Given the description of an element on the screen output the (x, y) to click on. 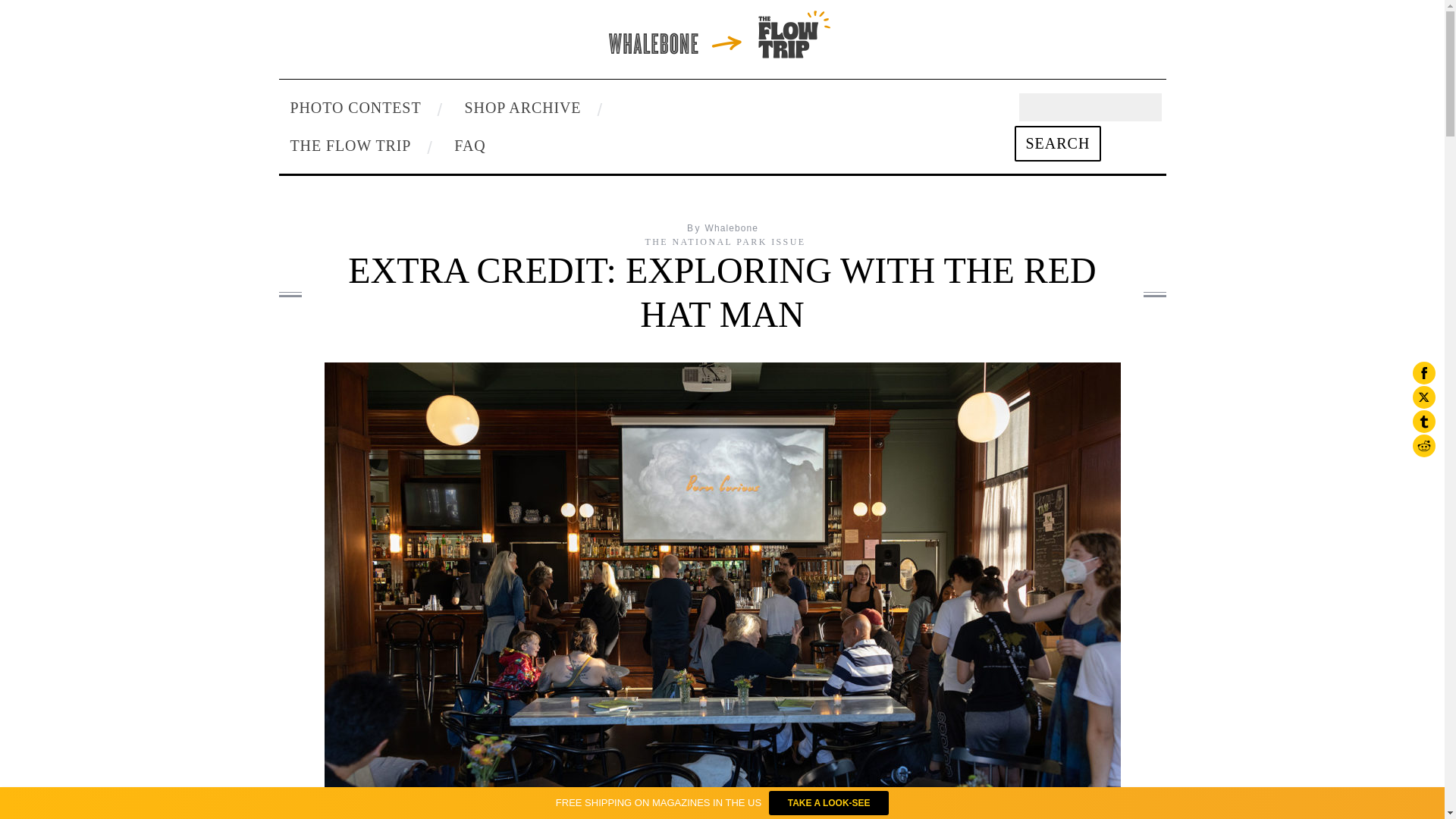
Facebook (1423, 372)
Reddit (1423, 445)
Search (1058, 143)
Tumblr (1423, 421)
TAKE A LOOK-SEE (828, 802)
X (1423, 396)
Search (1058, 143)
